Given the description of an element on the screen output the (x, y) to click on. 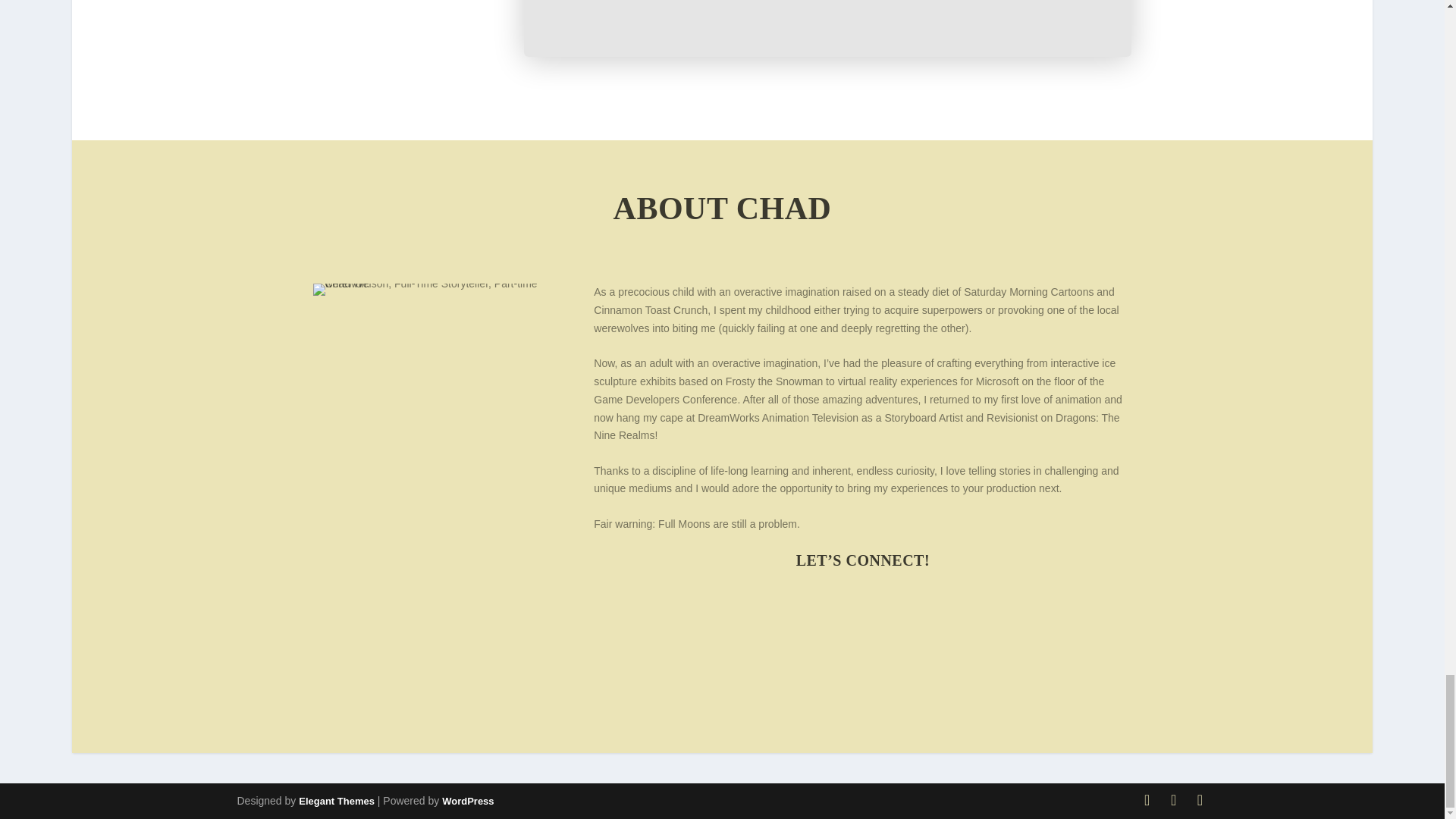
Chad-Werewolfsona (441, 289)
WordPress (467, 800)
Elegant Themes (336, 800)
T-Mobile LG G7 ThinQ Unboxing (828, 28)
